Given the description of an element on the screen output the (x, y) to click on. 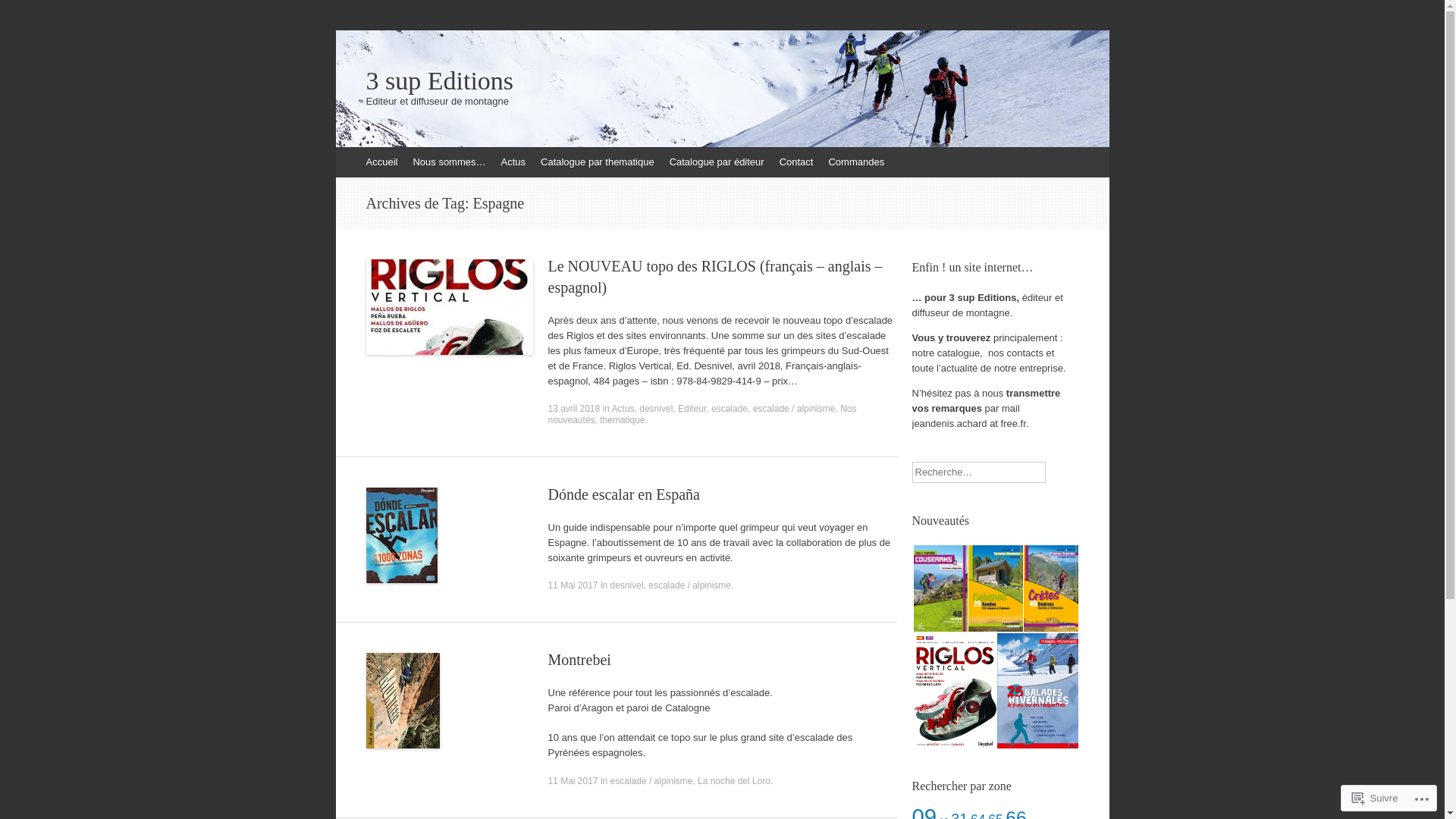
escalade / alpinisme Element type: text (651, 780)
escalade / alpinisme Element type: text (794, 408)
bal 64 Element type: hover (1036, 691)
thematique Element type: text (621, 419)
Montrebei Element type: text (578, 659)
La noche del Loro Element type: text (733, 780)
couv crete-130px Element type: hover (1050, 588)
3 sup Editions Element type: text (721, 81)
11 Mai 2017 Element type: text (572, 585)
desnivel Element type: text (626, 585)
Catalogue par thematique Element type: text (597, 162)
Commandes Element type: text (855, 162)
escalade / alpinisme Element type: text (689, 585)
Contact Element type: text (796, 162)
Suivre Element type: text (1375, 797)
couv cab-130px Element type: hover (994, 588)
Accueil Element type: text (380, 162)
100% rando couserans recto Element type: hover (939, 588)
desnivel Element type: text (655, 408)
Actus Element type: text (622, 408)
13 avril 2018 Element type: text (573, 408)
11 Mai 2017 Element type: text (572, 780)
escalade Element type: text (729, 408)
Actus Element type: text (512, 162)
Rechercher Element type: text (32, 15)
Editeur Element type: text (691, 408)
